Given the description of an element on the screen output the (x, y) to click on. 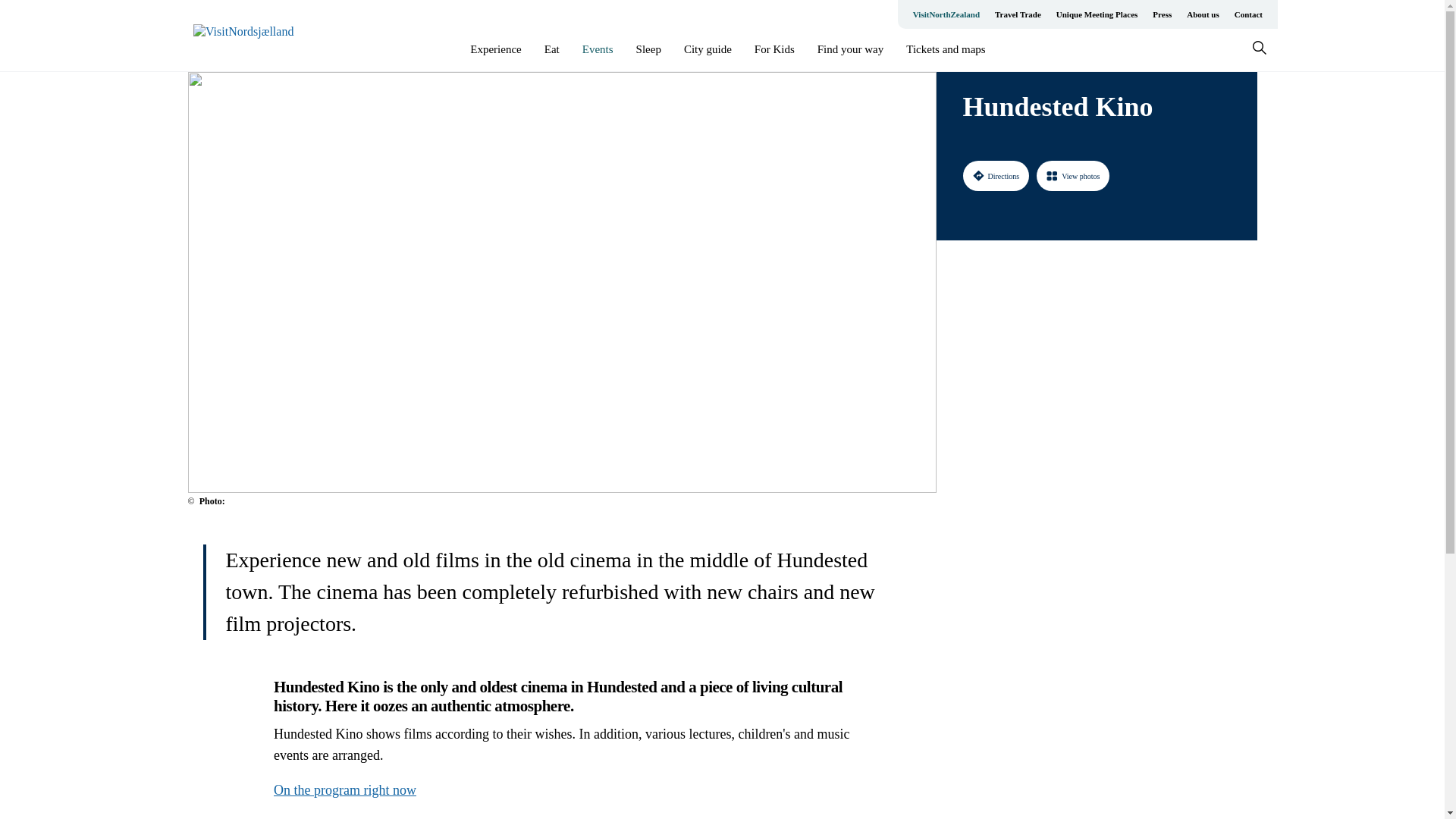
Unique Meeting Places (1096, 14)
Travel Trade (1017, 14)
Press (1161, 14)
Find your way (849, 49)
Contact (1248, 14)
VisitNorthZealand (946, 14)
Sleep (648, 49)
Go to homepage (253, 35)
Tickets and maps (945, 49)
About us (1203, 14)
Eat (551, 49)
Events (597, 49)
For Kids (774, 49)
City guide (708, 49)
Experience (495, 49)
